Given the description of an element on the screen output the (x, y) to click on. 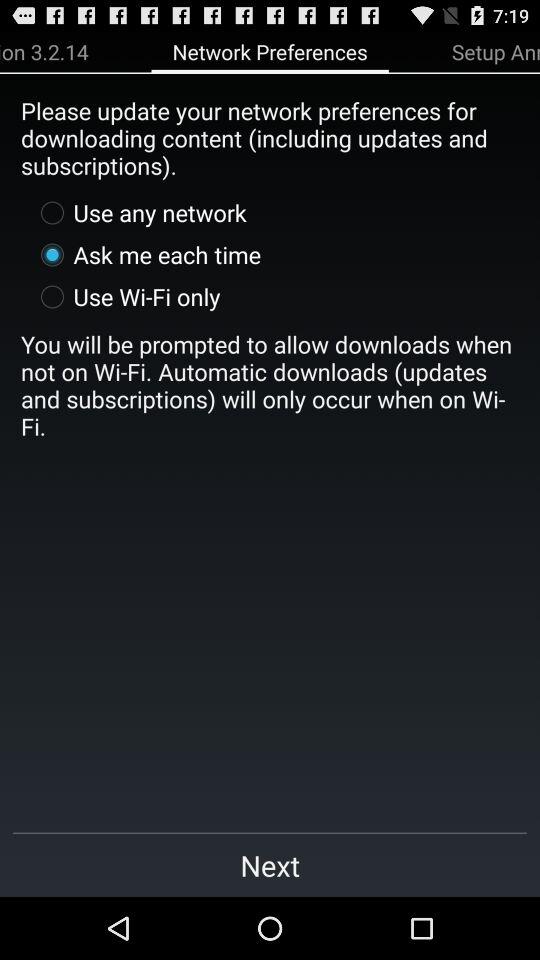
press ask me each item (145, 254)
